Given the description of an element on the screen output the (x, y) to click on. 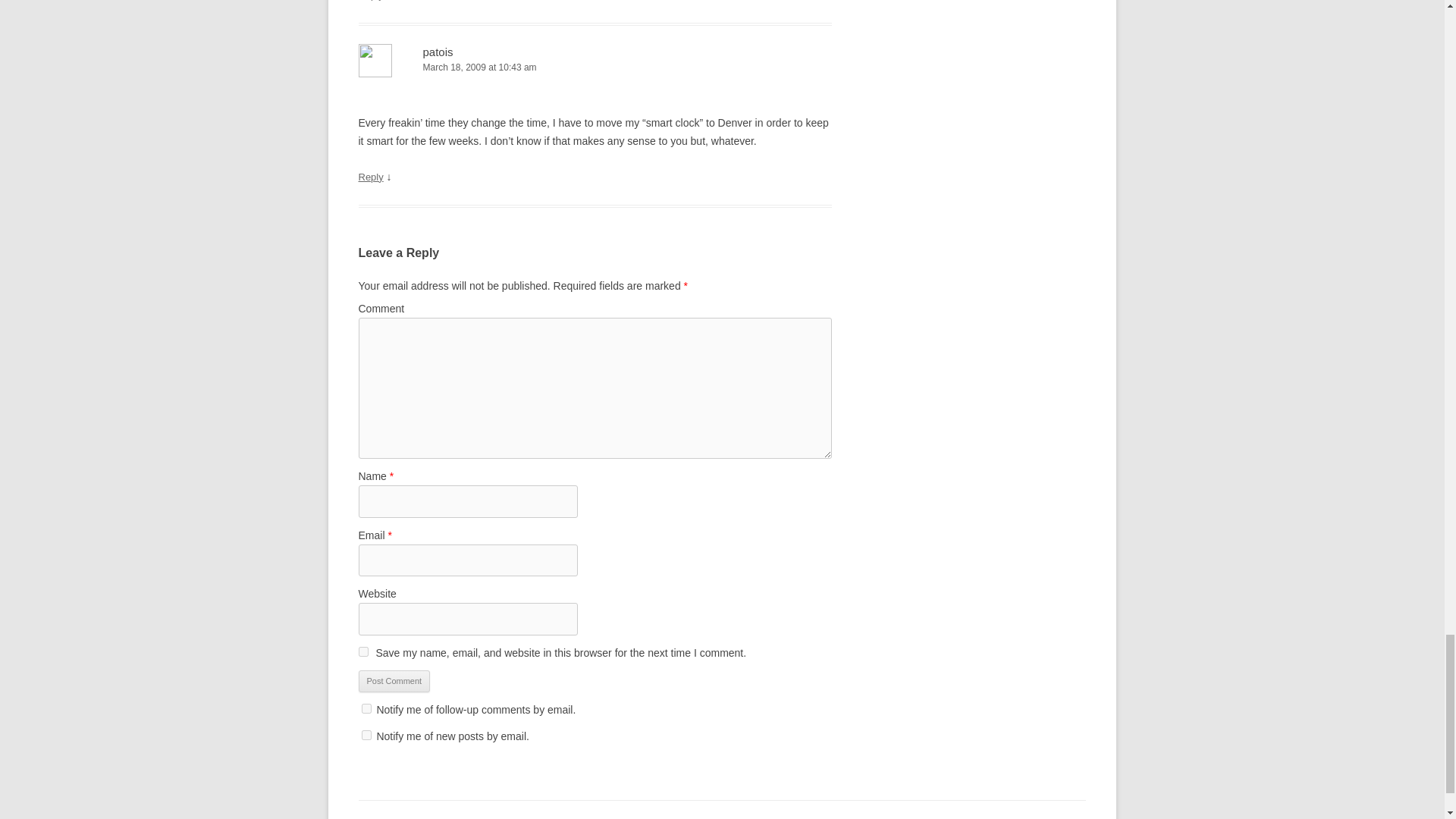
Post Comment (393, 681)
Reply (370, 176)
patois (437, 51)
yes (363, 651)
subscribe (366, 708)
Post Comment (393, 681)
March 18, 2009 at 10:43 am (594, 67)
subscribe (366, 735)
